Given the description of an element on the screen output the (x, y) to click on. 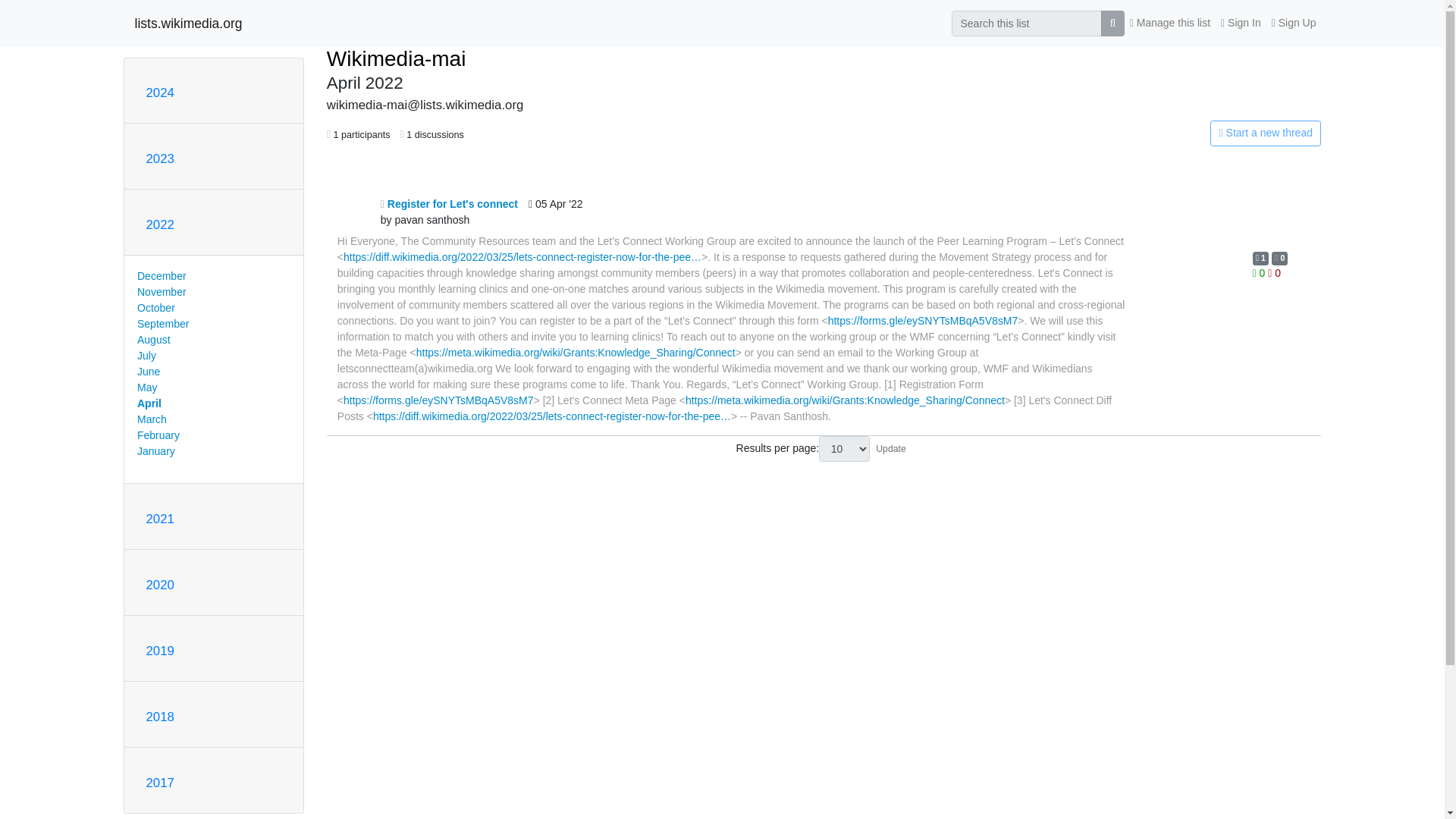
You must be logged-in to create a thread. (1162, 133)
2022 (159, 224)
August (153, 339)
Sign In (1240, 22)
2023 (159, 158)
December (161, 275)
Tuesday, 5 April 2022 07:04:42 (555, 212)
October (155, 307)
You must be logged-in to vote. (1274, 272)
November (161, 291)
